Given the description of an element on the screen output the (x, y) to click on. 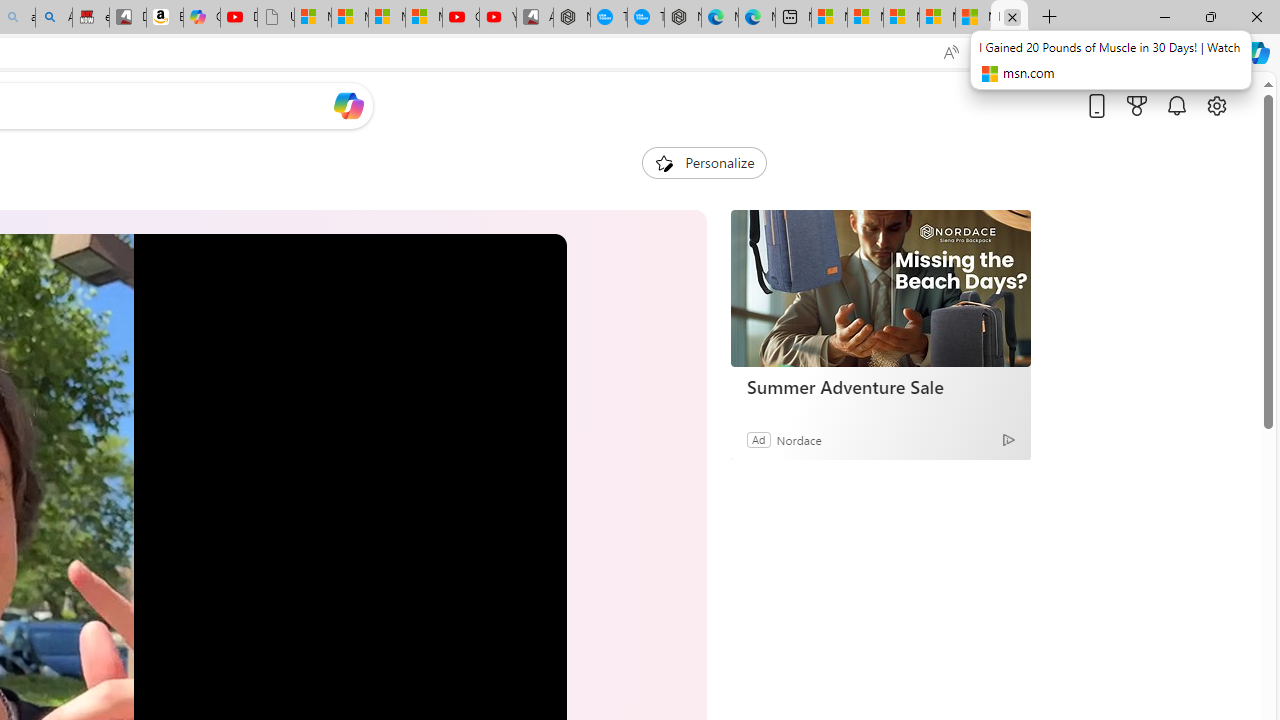
Microsoft rewards (1137, 105)
Copilot (202, 17)
Nordace (798, 439)
Close (1256, 16)
Amazon Echo Dot PNG - Search Images (53, 17)
Browser essentials (1171, 52)
Open Copilot (347, 105)
To get missing image descriptions, open the context menu. (664, 162)
New tab (793, 17)
Open settings (1216, 105)
Collections (1128, 52)
Ad (758, 439)
Microsoft account | Microsoft Account Privacy Settings (865, 17)
